Given the description of an element on the screen output the (x, y) to click on. 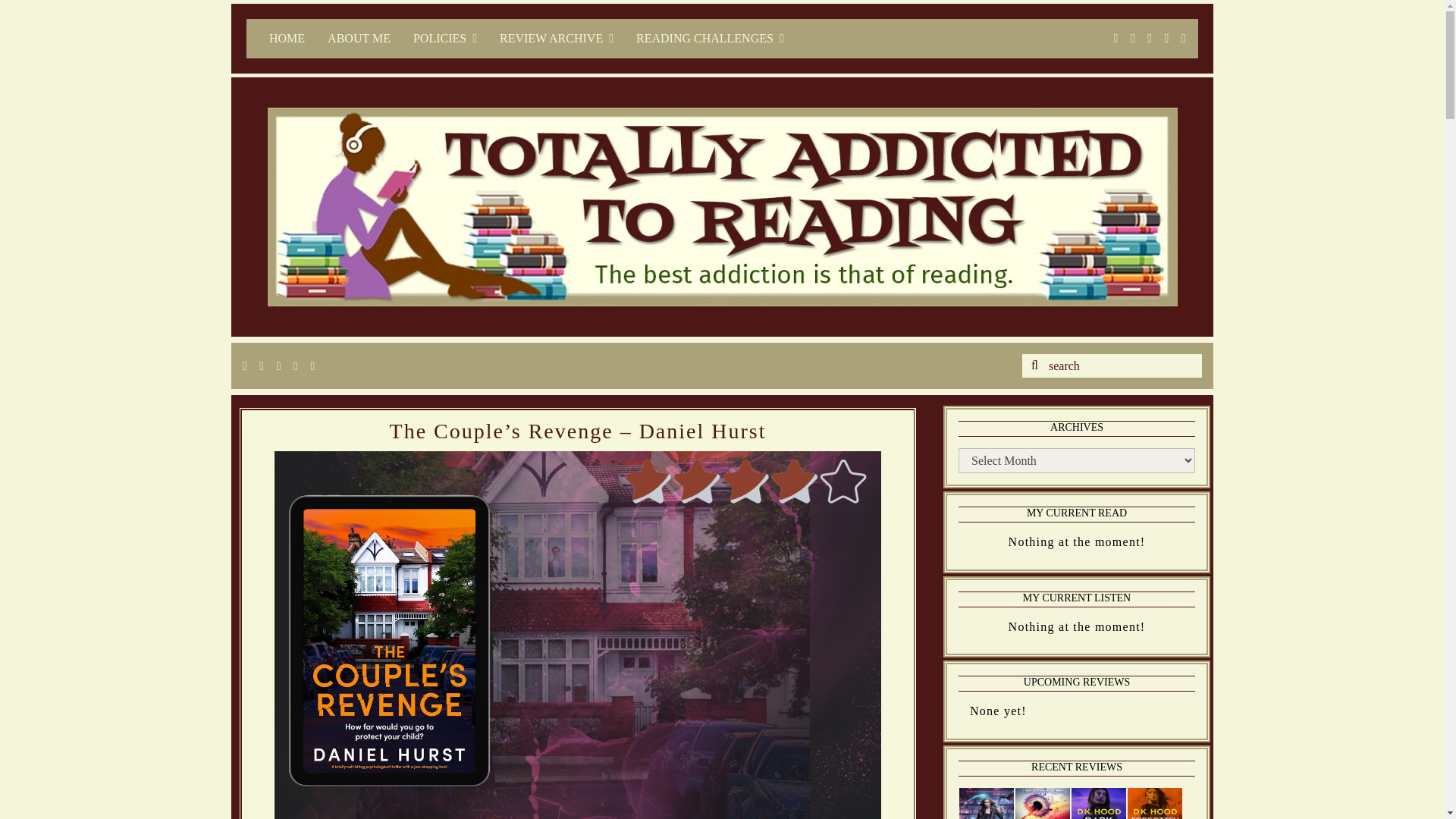
ABOUT ME (358, 38)
HOME (286, 38)
READING CHALLENGES   (709, 38)
POLICIES   (444, 38)
REVIEW ARCHIVE   (555, 38)
